Given the description of an element on the screen output the (x, y) to click on. 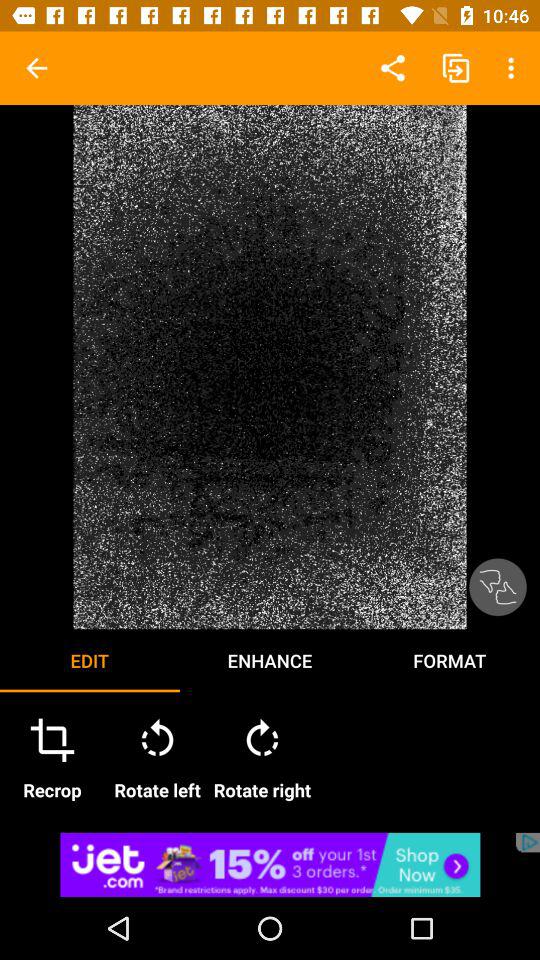
approve changes (497, 587)
